Given the description of an element on the screen output the (x, y) to click on. 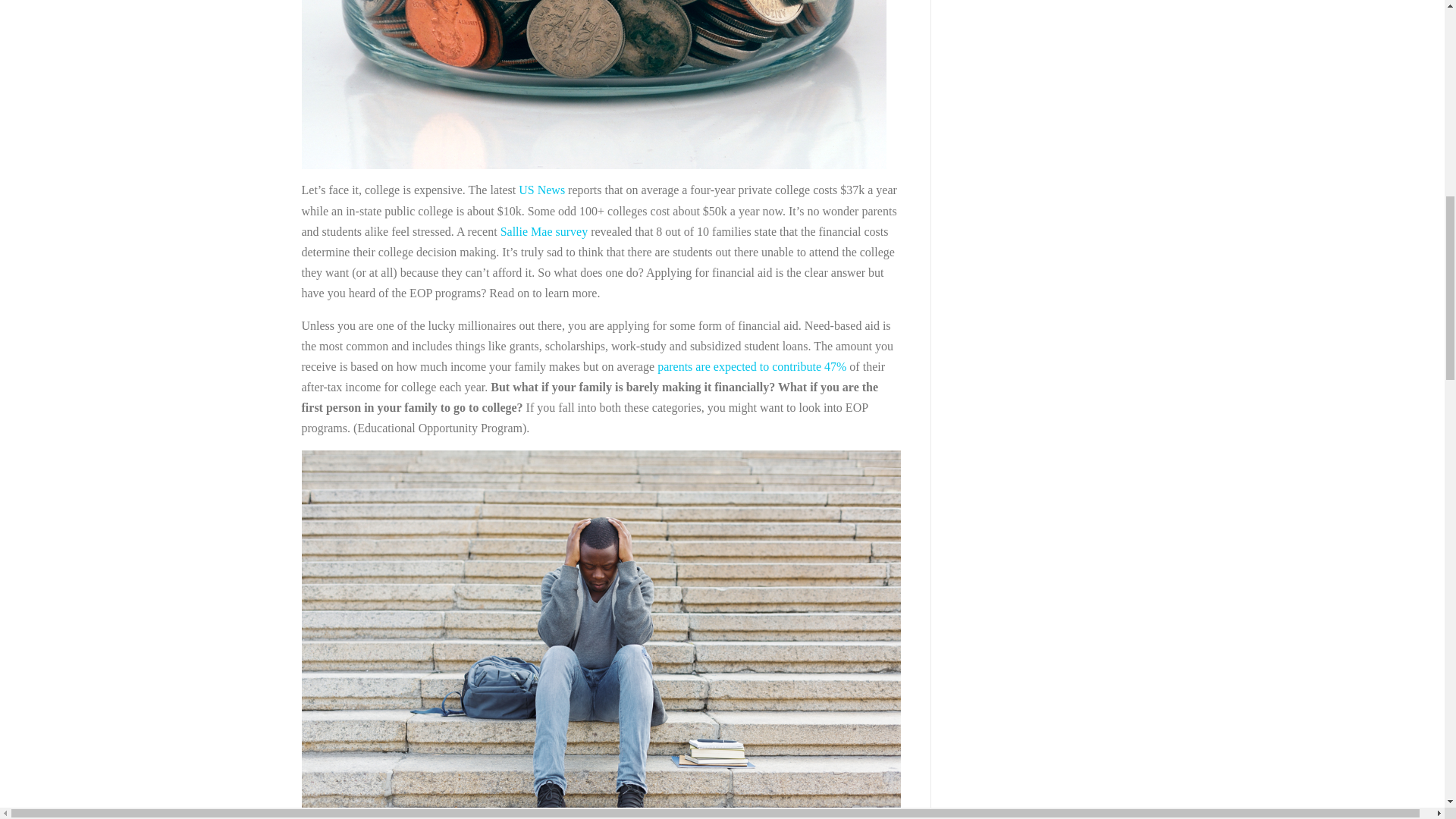
US News  (542, 189)
Sallie Mae survey (544, 231)
